Given the description of an element on the screen output the (x, y) to click on. 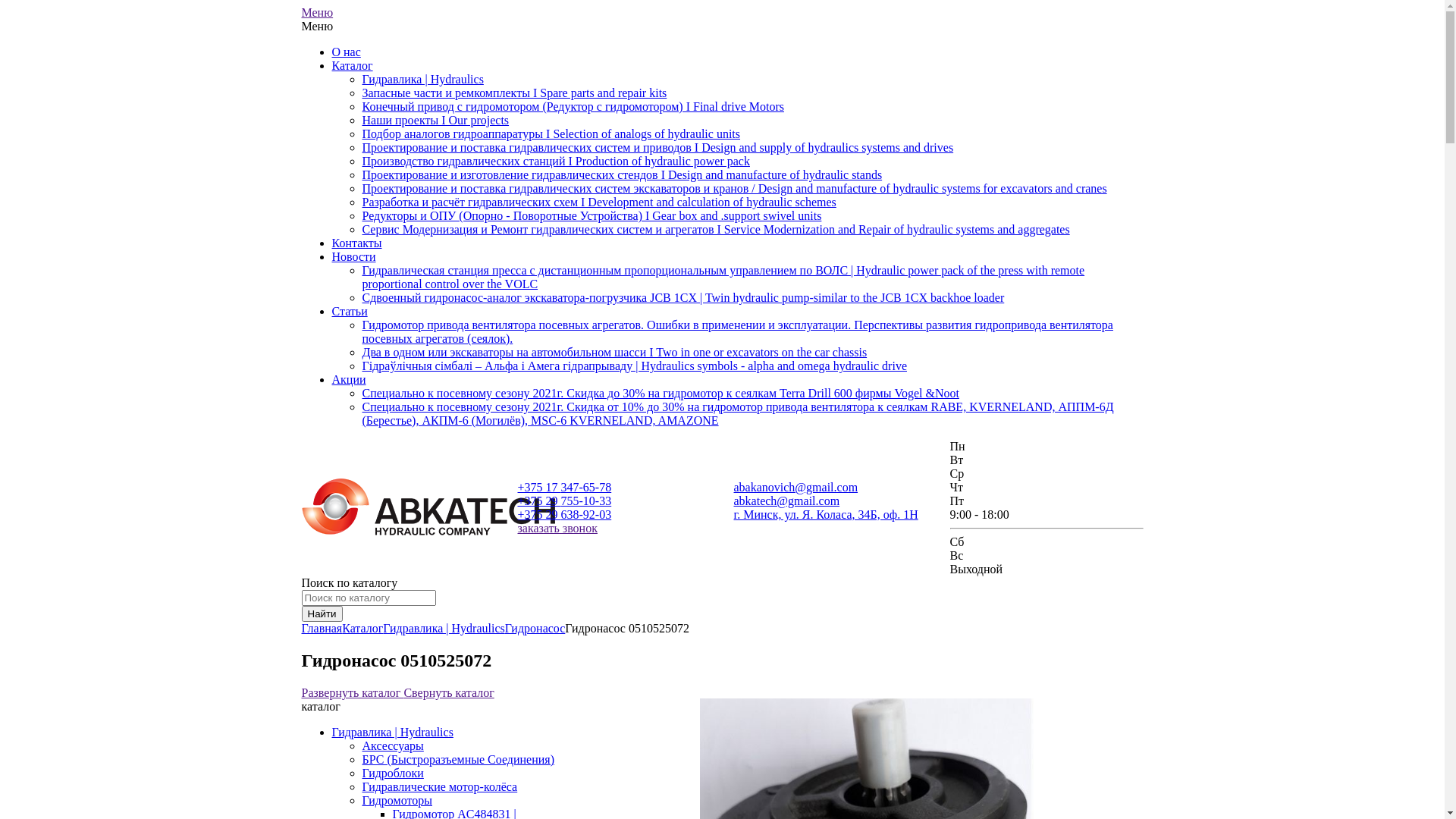
+375 29 638-92-03 Element type: text (564, 514)
+375 29 755-10-33 Element type: text (564, 500)
abakanovich@gmail.com Element type: text (796, 486)
+375 17 347-65-78 Element type: text (564, 486)
abkatech@gmail.com Element type: text (787, 500)
